Given the description of an element on the screen output the (x, y) to click on. 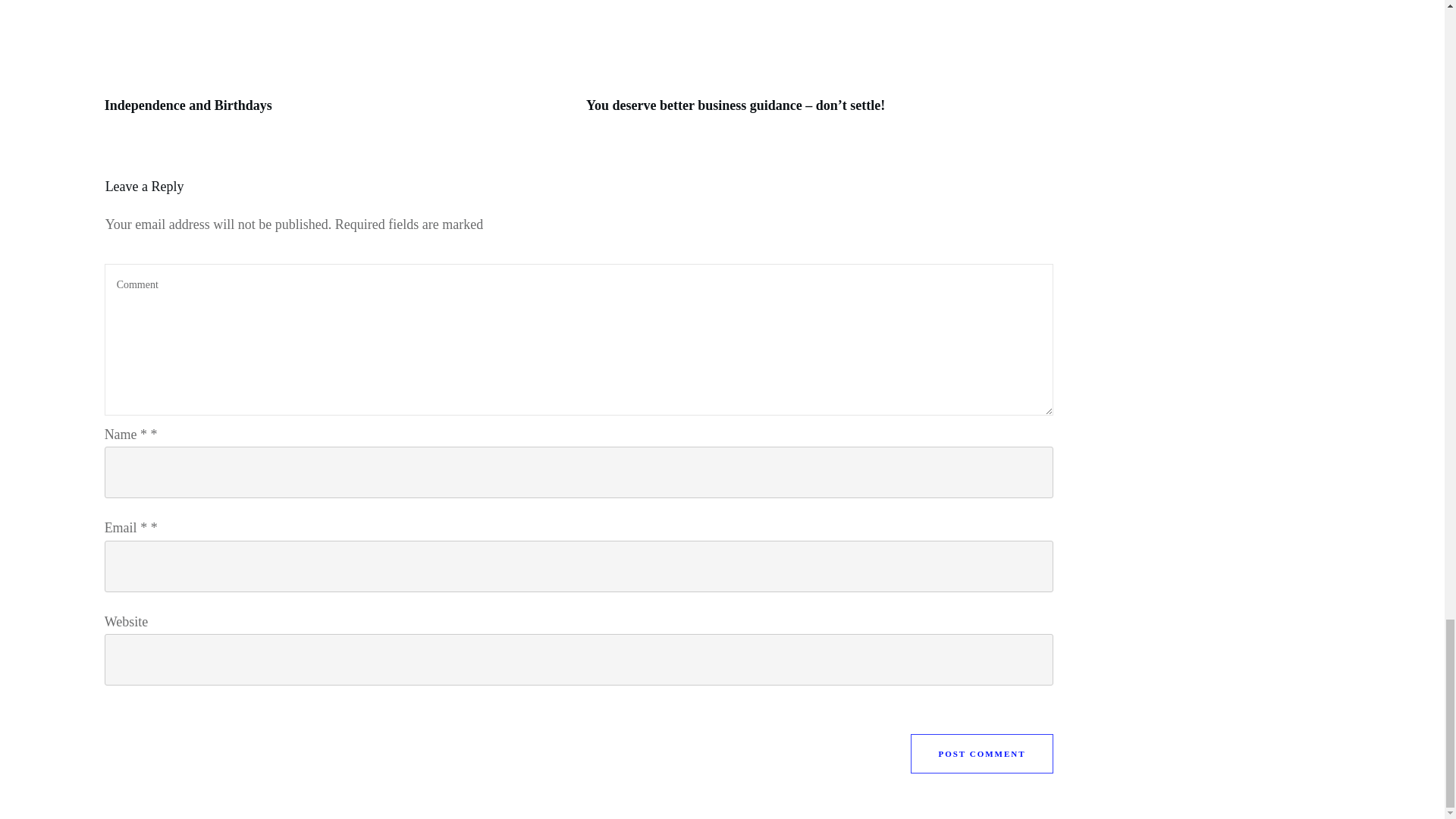
Independence and Birthdays (188, 105)
